Given the description of an element on the screen output the (x, y) to click on. 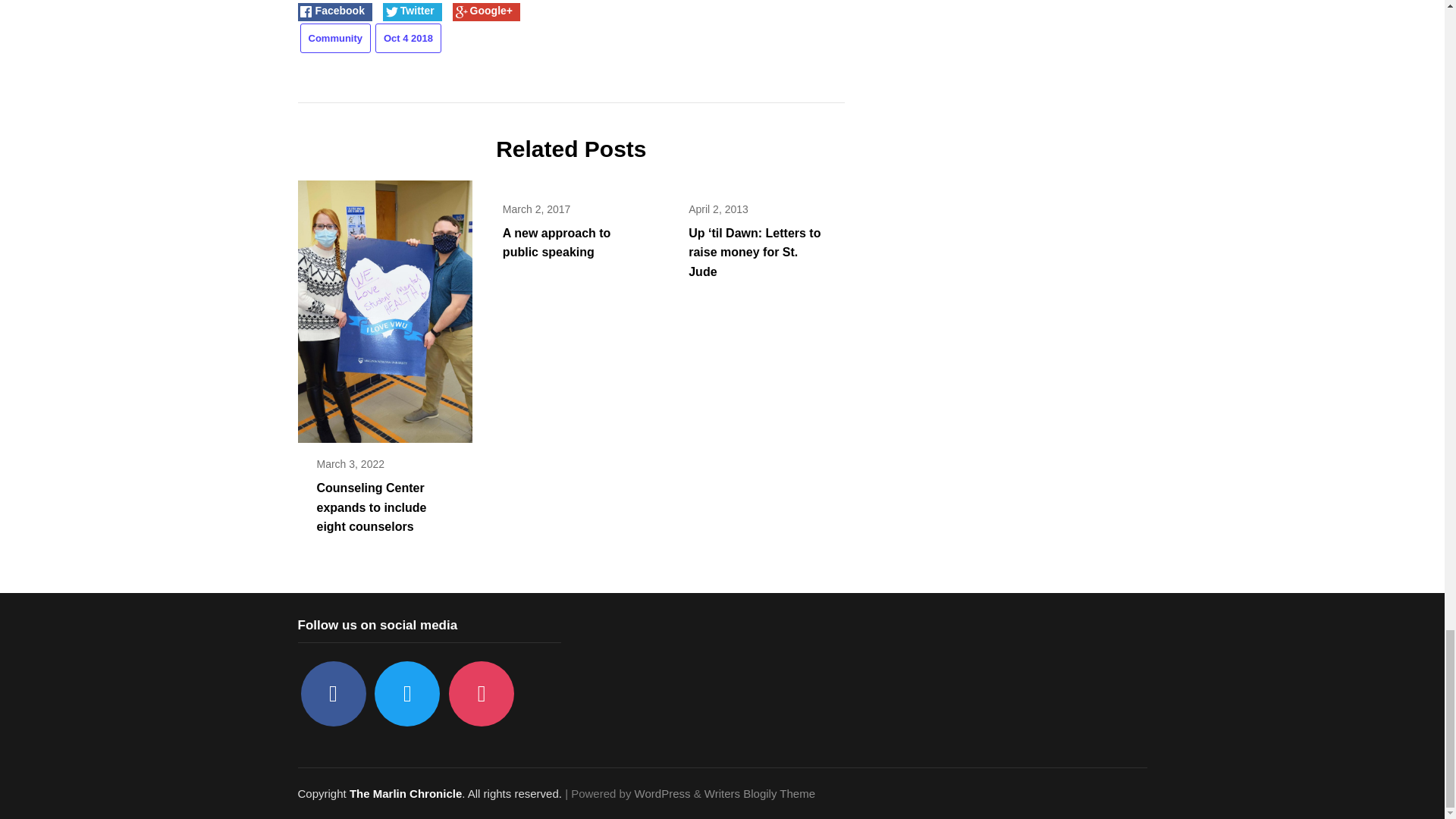
A new approach to public speaking (556, 242)
Share link on Facebook (334, 12)
Instagram (480, 693)
Community (335, 38)
Share link on Twitter (412, 12)
Counseling Center expands to include eight counselors (371, 506)
Facebook (332, 693)
Twitter (406, 693)
Oct 4 2018 (408, 38)
Counseling Center expands to include eight counselors (384, 306)
